Given the description of an element on the screen output the (x, y) to click on. 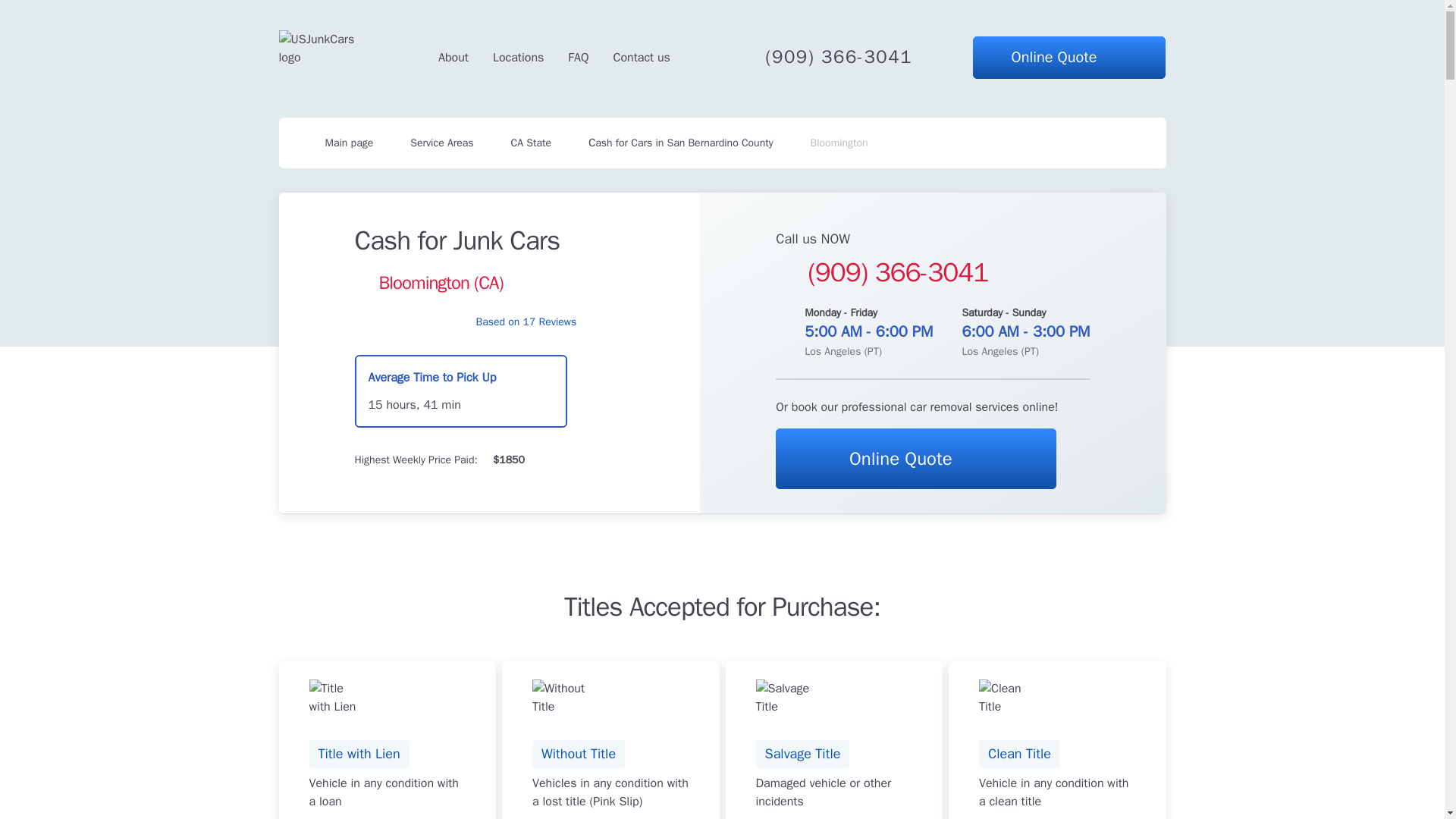
Service Areas (441, 142)
About (453, 57)
Contact us (640, 57)
CA State (531, 142)
Main page (338, 142)
Locations (518, 57)
Online Quote (916, 458)
FAQ (387, 739)
Online Quote (577, 57)
